Given the description of an element on the screen output the (x, y) to click on. 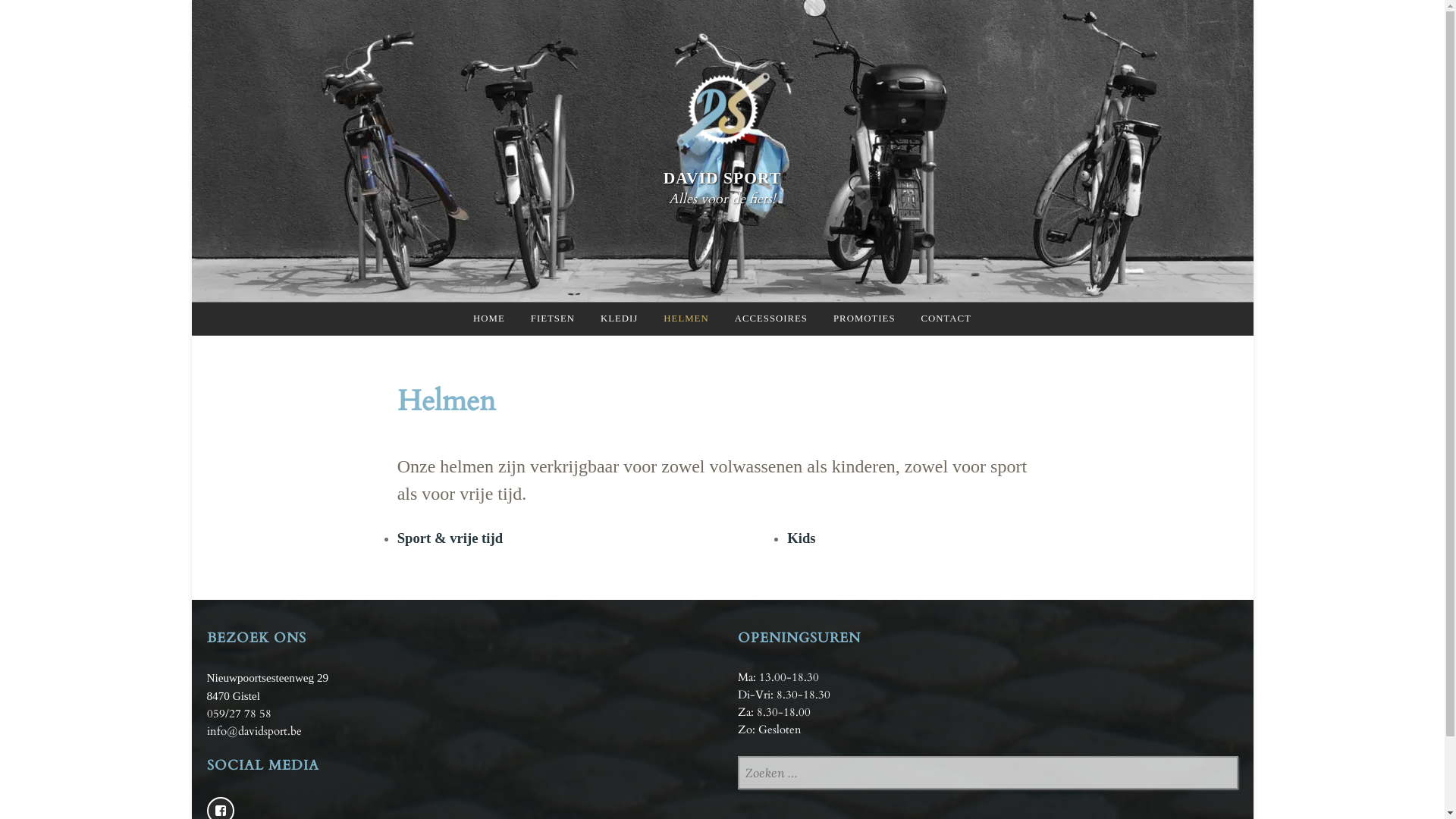
HELMEN Element type: text (685, 318)
Zoeken Element type: text (60, 18)
Nieuwpoortsesteenweg 29
8470 Gistel Element type: text (267, 686)
ACCESSOIRES Element type: text (771, 318)
KLEDIJ Element type: text (619, 318)
DAVID SPORT Element type: text (722, 178)
CONTACT Element type: text (946, 318)
Skip to content Element type: text (191, 0)
Sport & vrije tijd Element type: text (449, 538)
PROMOTIES Element type: text (864, 318)
FIETSEN Element type: text (552, 318)
HOME Element type: text (488, 318)
Kids Element type: text (801, 538)
